Given the description of an element on the screen output the (x, y) to click on. 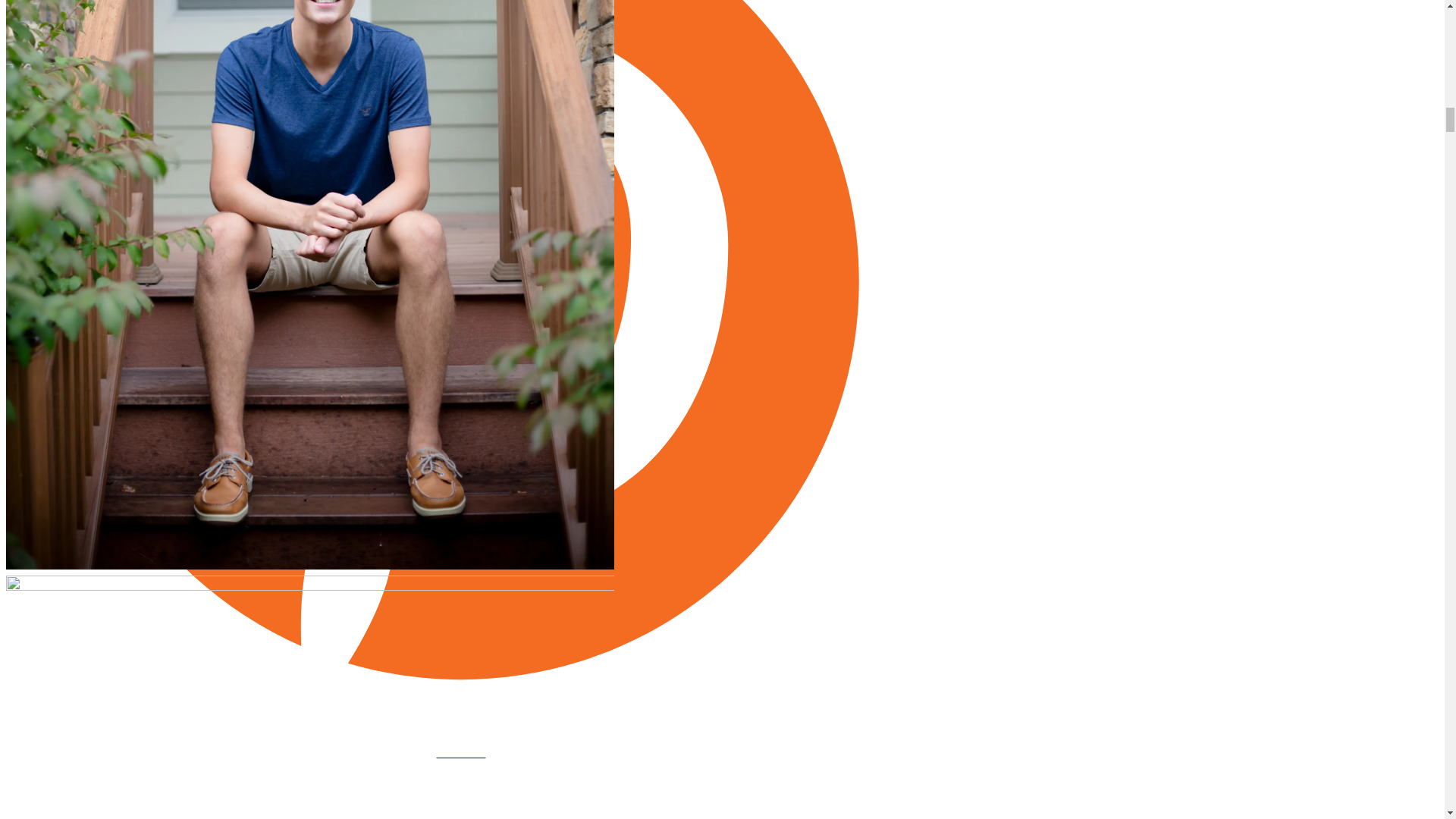
SPECIALS (460, 754)
